Given the description of an element on the screen output the (x, y) to click on. 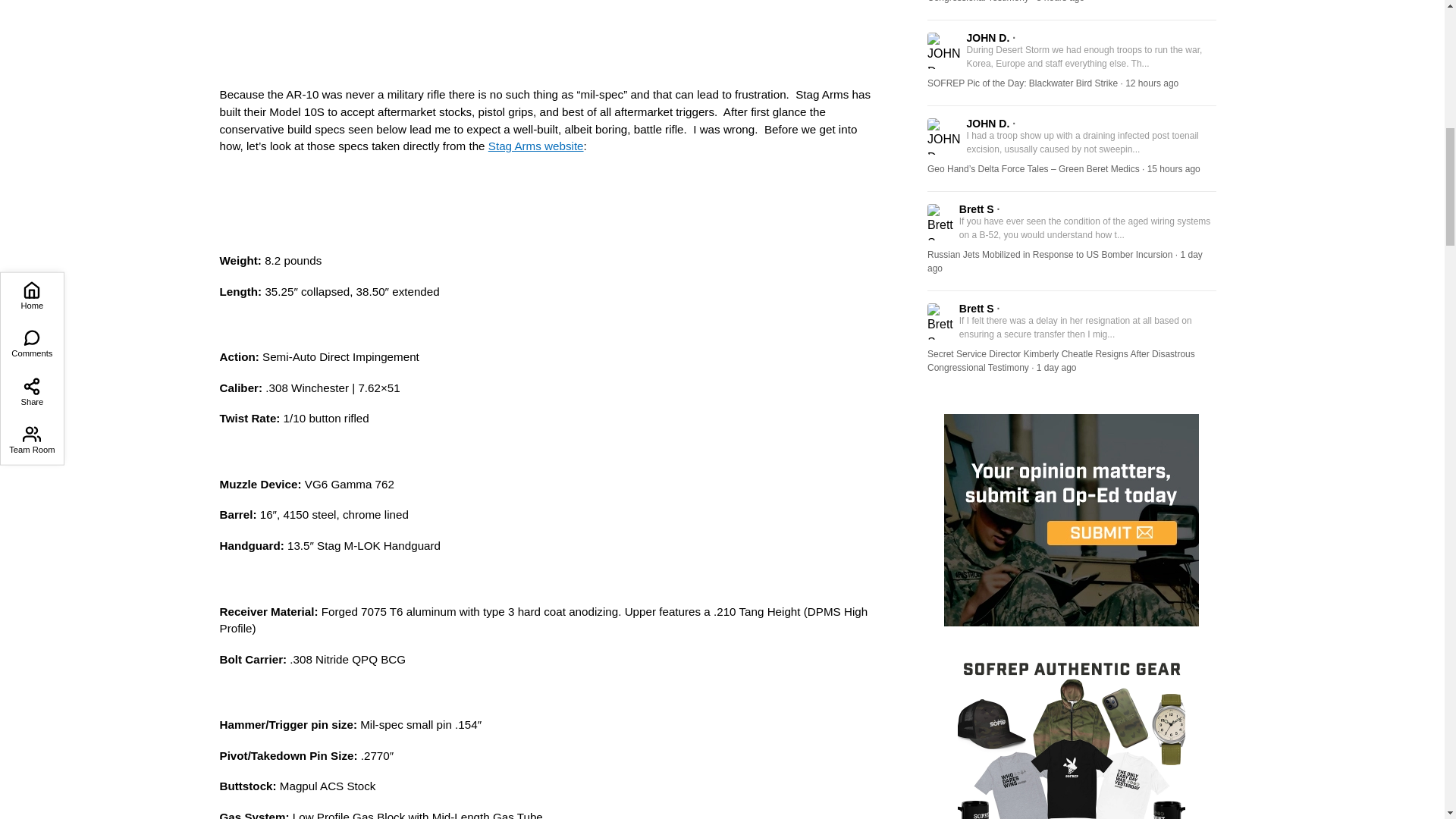
Stag 10S .308 Tabletop and Field Strip (549, 36)
